Given the description of an element on the screen output the (x, y) to click on. 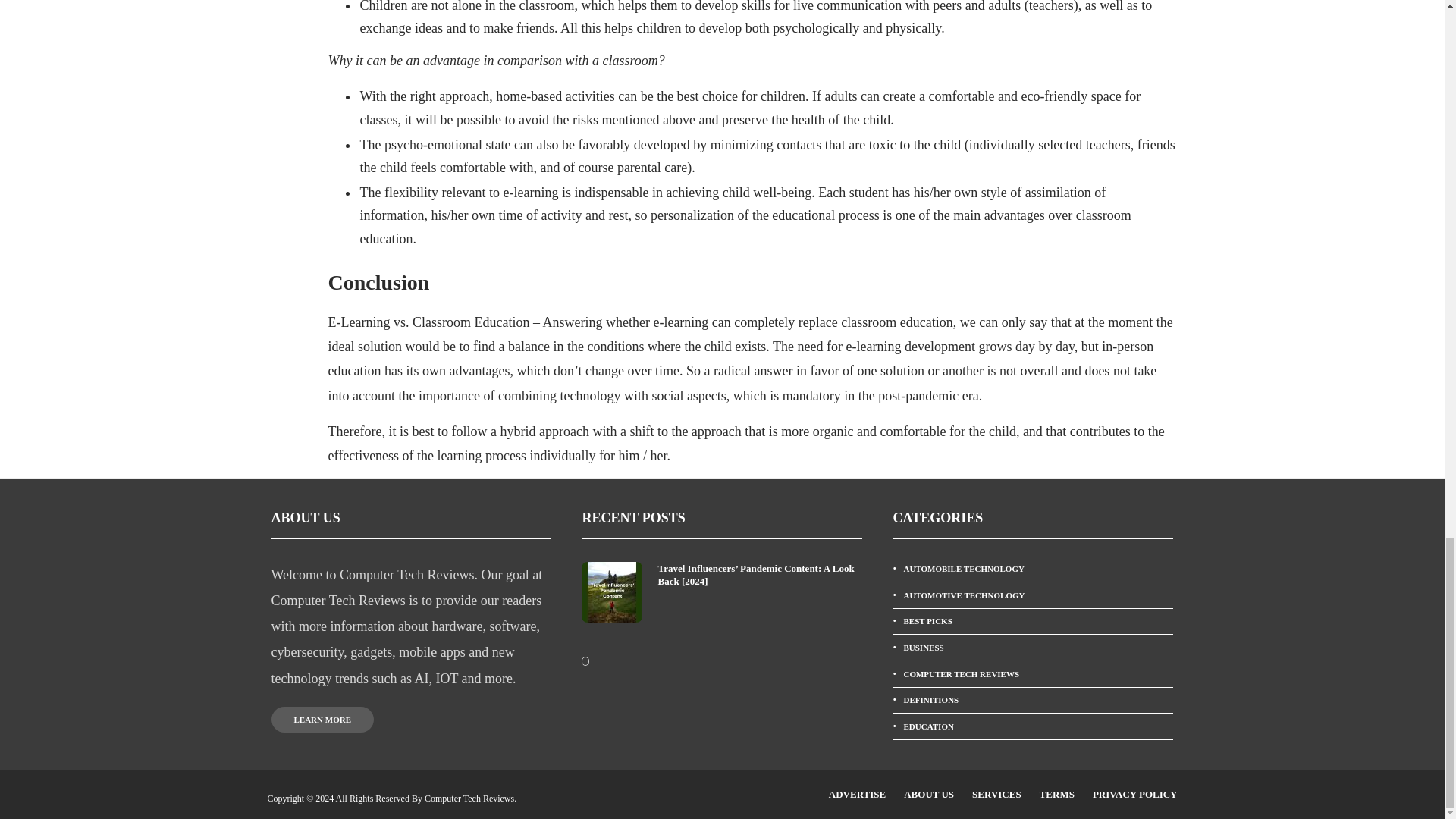
BUSINESS (1032, 647)
LEARN MORE (322, 719)
AUTOMOTIVE TECHNOLOGY (1032, 595)
BEST PICKS (1032, 621)
COMPUTER TECH REVIEWS (1032, 674)
AUTOMOBILE TECHNOLOGY (1032, 568)
